Given the description of an element on the screen output the (x, y) to click on. 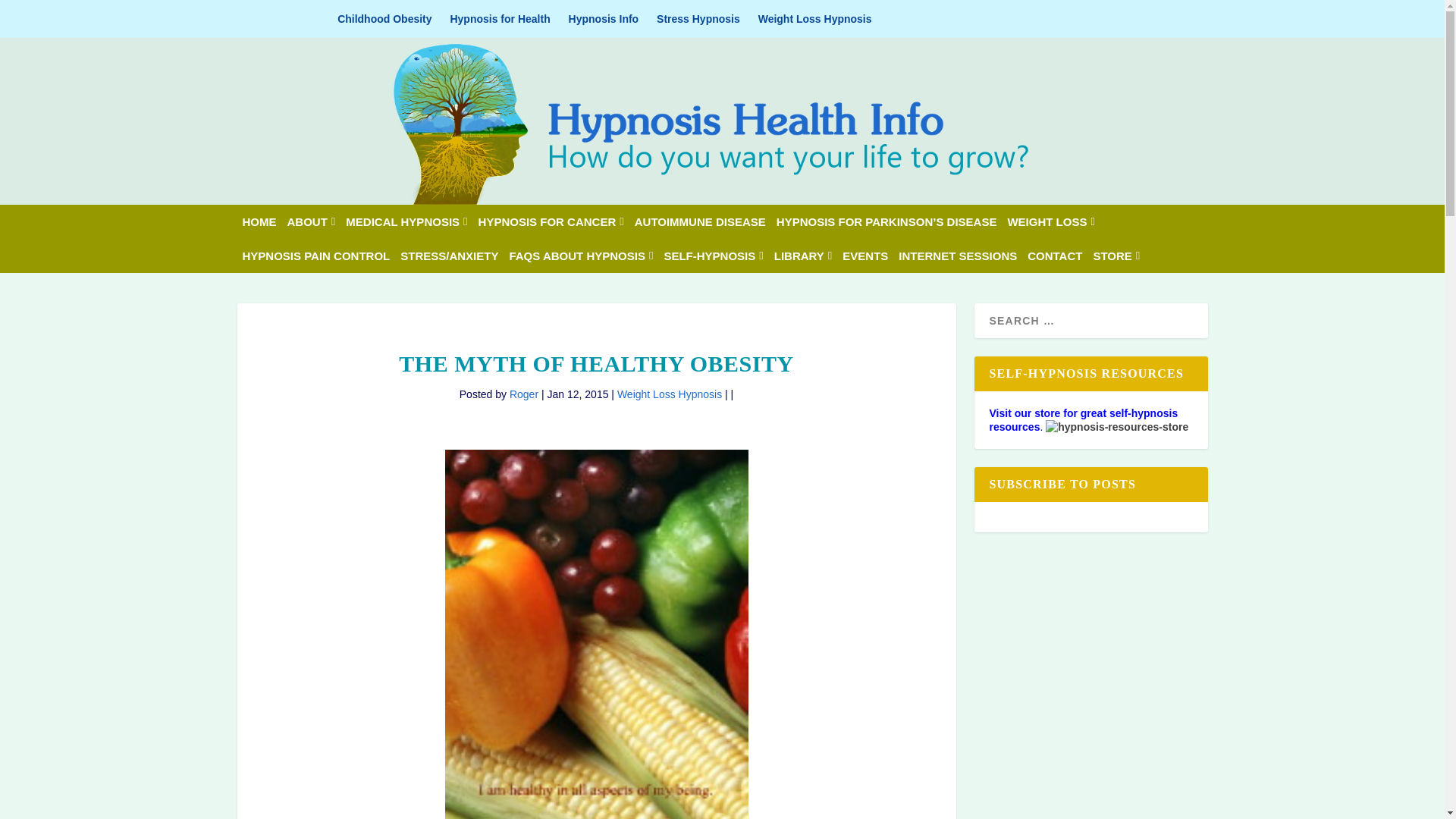
HOME (259, 221)
Hypnosis for Health (499, 18)
HYPNOSIS FOR CANCER (551, 221)
WEIGHT LOSS (1050, 221)
Childhood Obesity (383, 18)
HYPNOSIS PAIN CONTROL (316, 255)
MEDICAL HYPNOSIS (406, 221)
AUTOIMMUNE DISEASE (699, 221)
Posts by Roger (523, 394)
Hypnosis Info (604, 18)
